Given the description of an element on the screen output the (x, y) to click on. 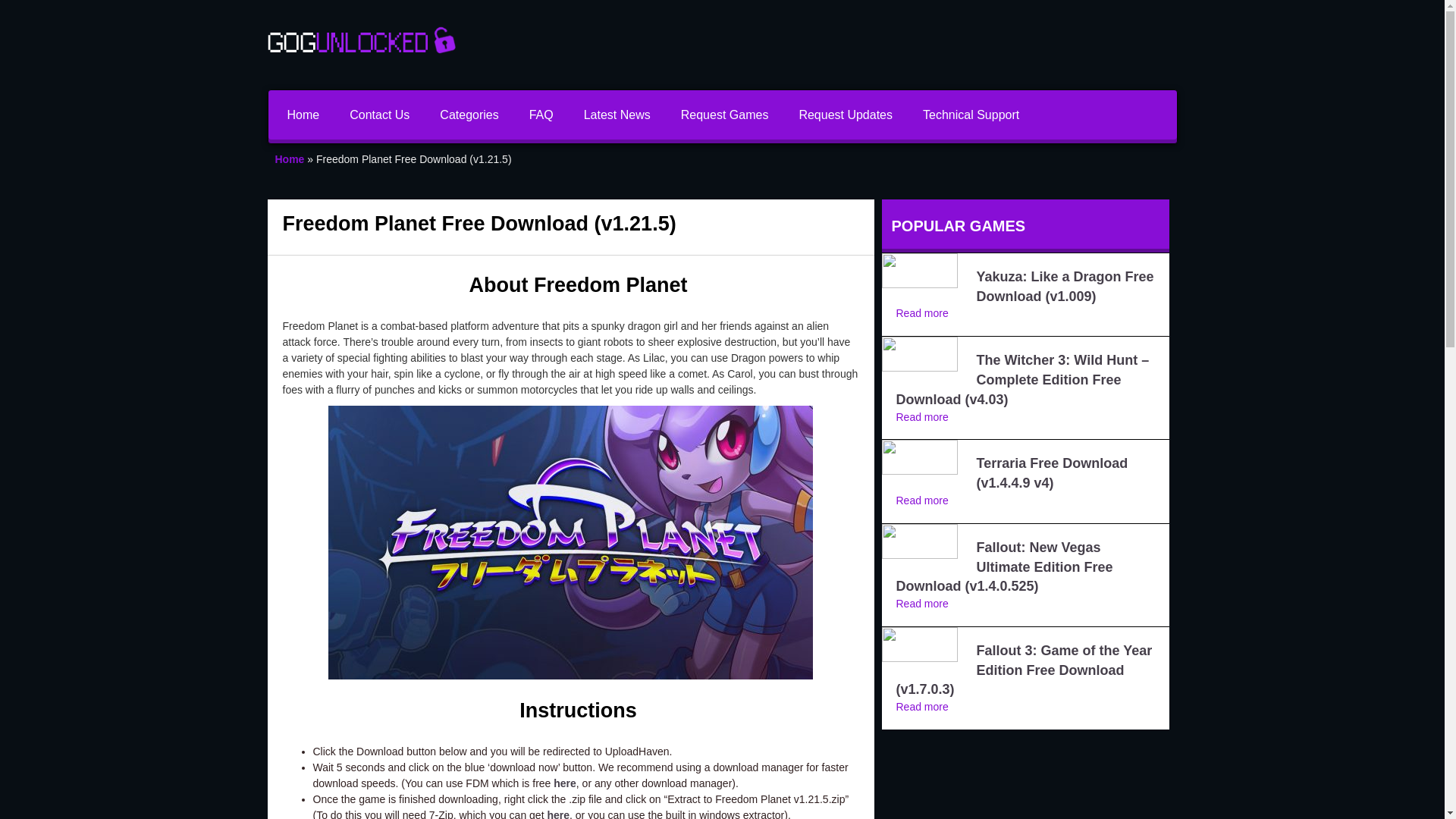
Read more (922, 500)
here (558, 814)
Home (302, 114)
Request Games (724, 114)
Categories (469, 114)
Read more (922, 706)
Latest News (617, 114)
FAQ (541, 114)
Contact Us (379, 114)
Request Updates (845, 114)
